Given the description of an element on the screen output the (x, y) to click on. 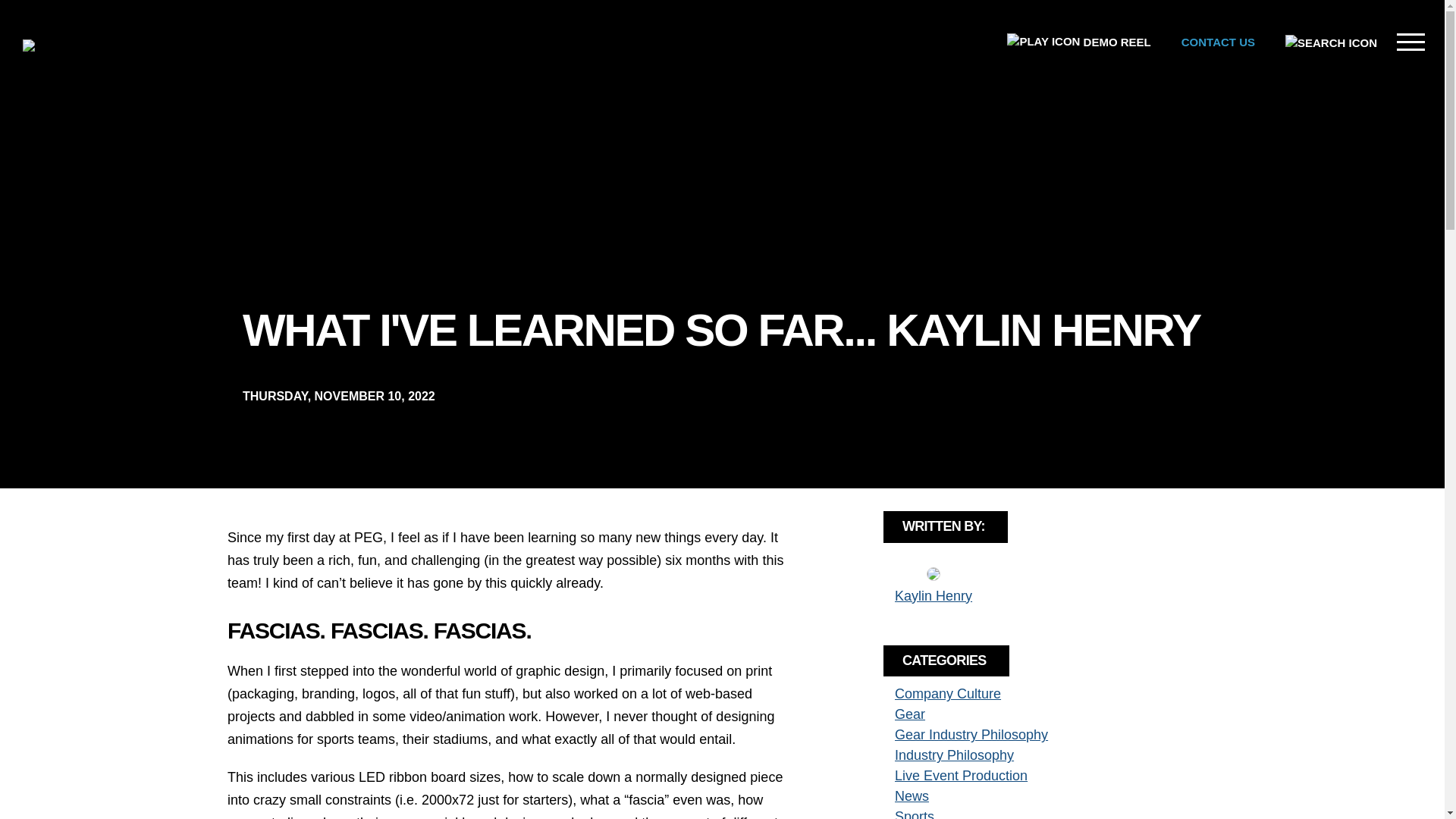
Category: Gear Industry Philosophy (971, 734)
Category: Live Event Production (961, 775)
Category: Gear (909, 713)
Live Event Production (961, 775)
CONTACT US (1217, 42)
Category: Company Culture (948, 693)
PEG Home (50, 46)
Gear (909, 713)
Kaylin Henry (933, 595)
Category: News (911, 795)
Search PEG (1330, 42)
Category: Industry Philosophy (954, 754)
DEMO REEL (1078, 42)
Category: Sports (914, 814)
Industry Philosophy (954, 754)
